Given the description of an element on the screen output the (x, y) to click on. 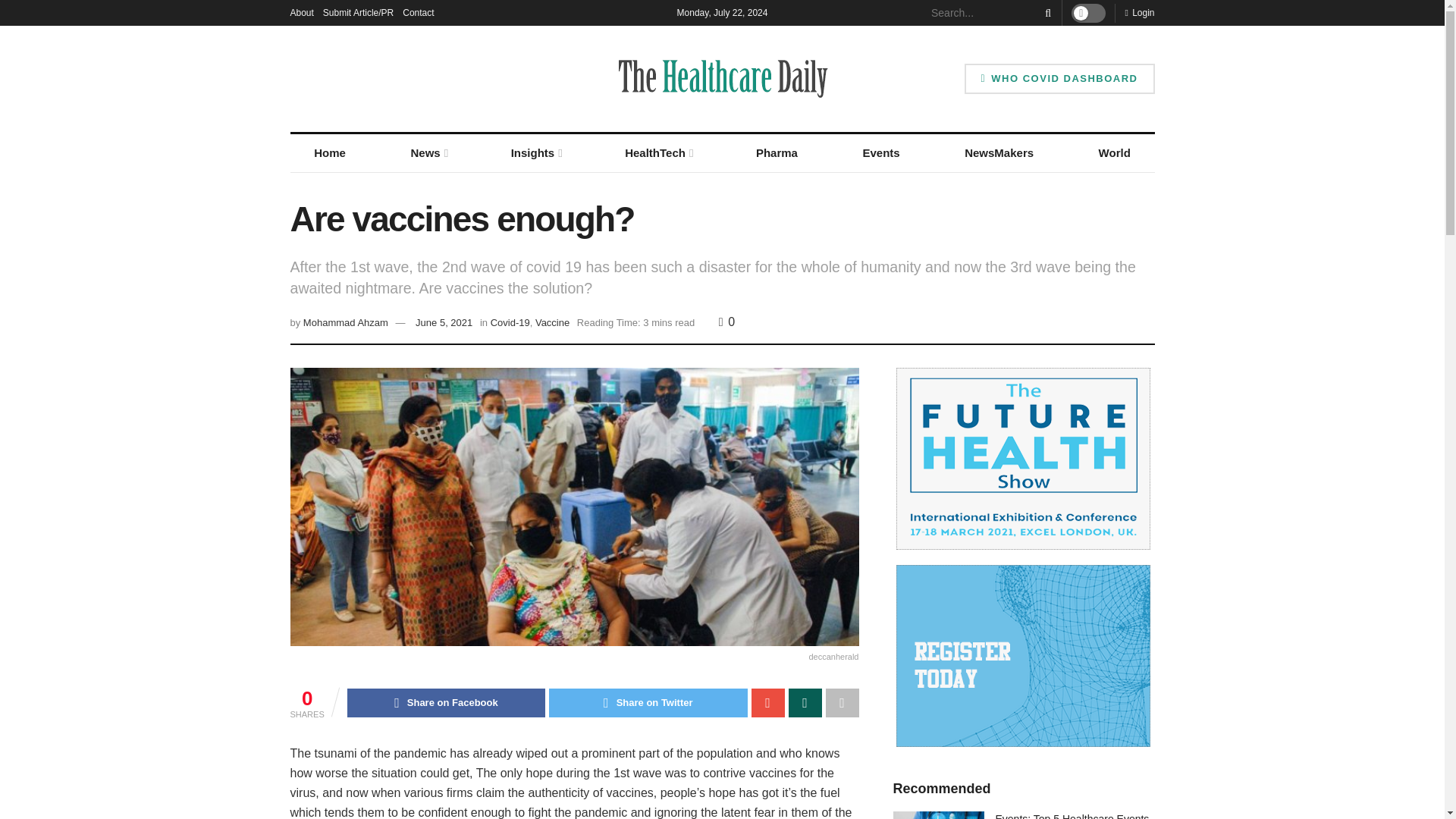
Login (1139, 12)
WHO COVID DASHBOARD (1058, 78)
News (428, 152)
Insights (535, 152)
Home (329, 152)
About (301, 12)
Contact (418, 12)
